Given the description of an element on the screen output the (x, y) to click on. 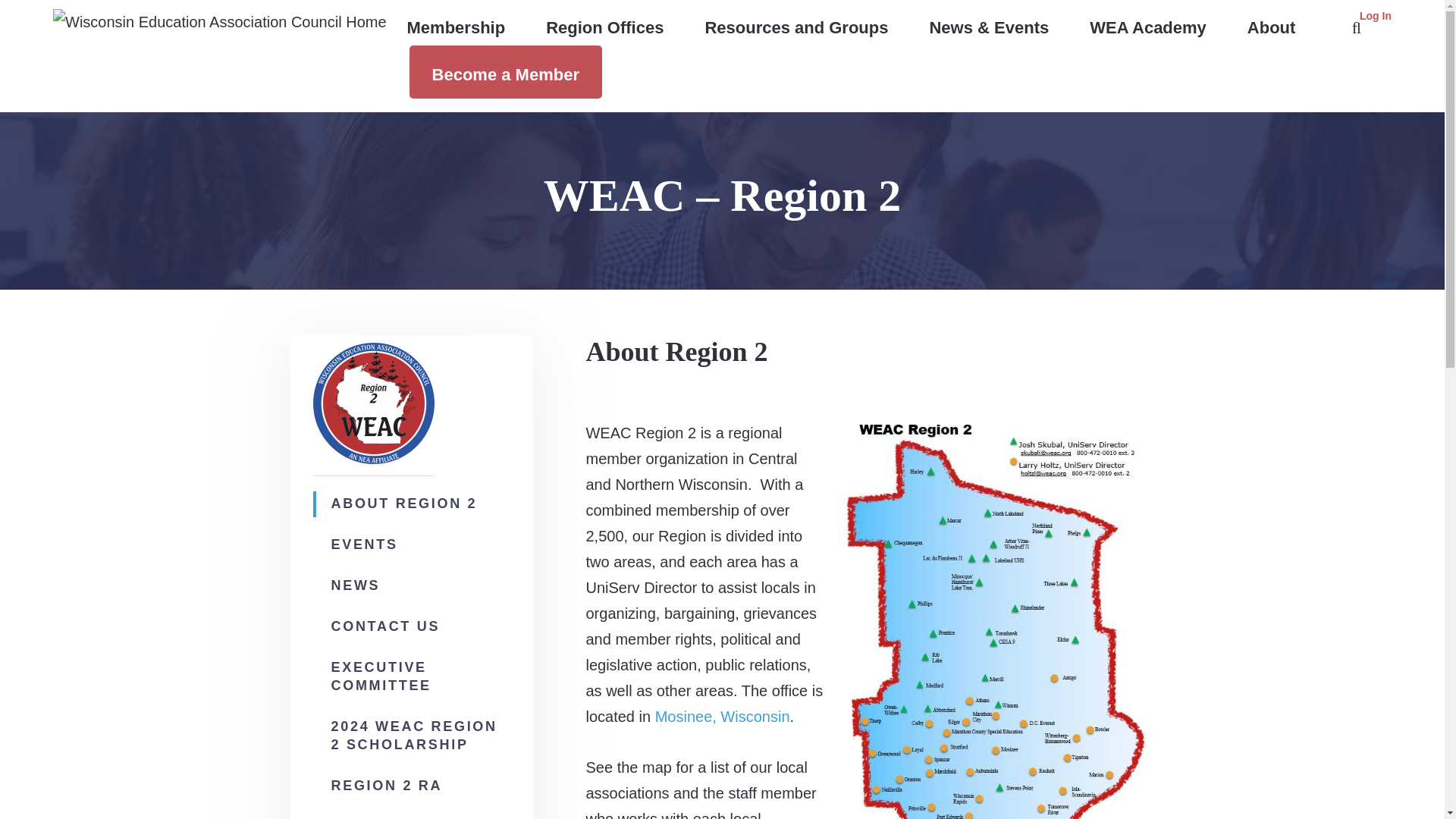
Membership (456, 29)
Resources and Groups (796, 29)
Region Offices (604, 29)
WEA Academy (1147, 29)
Log In (1375, 15)
